Given the description of an element on the screen output the (x, y) to click on. 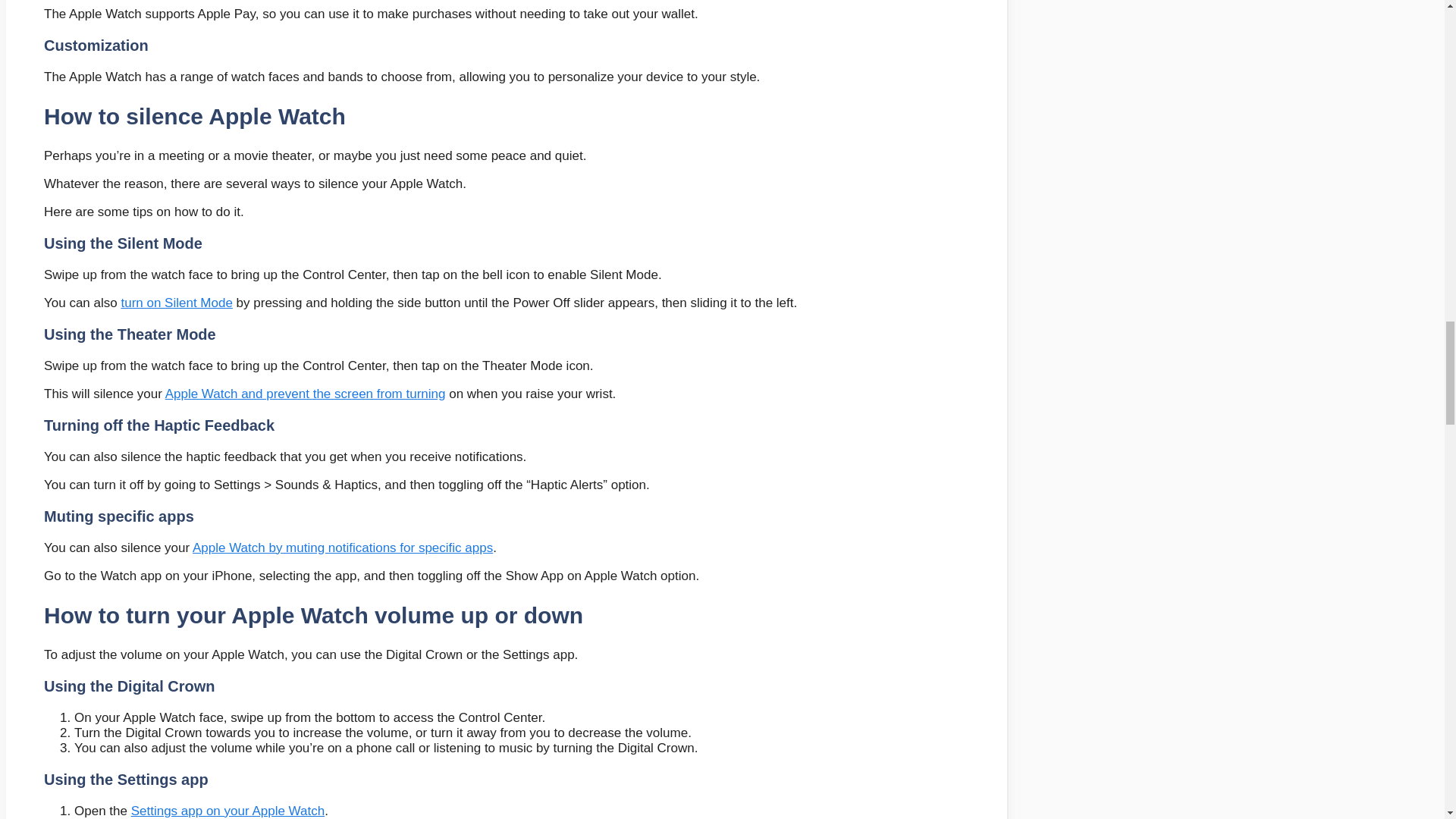
turn on Silent Mode (175, 302)
